Given the description of an element on the screen output the (x, y) to click on. 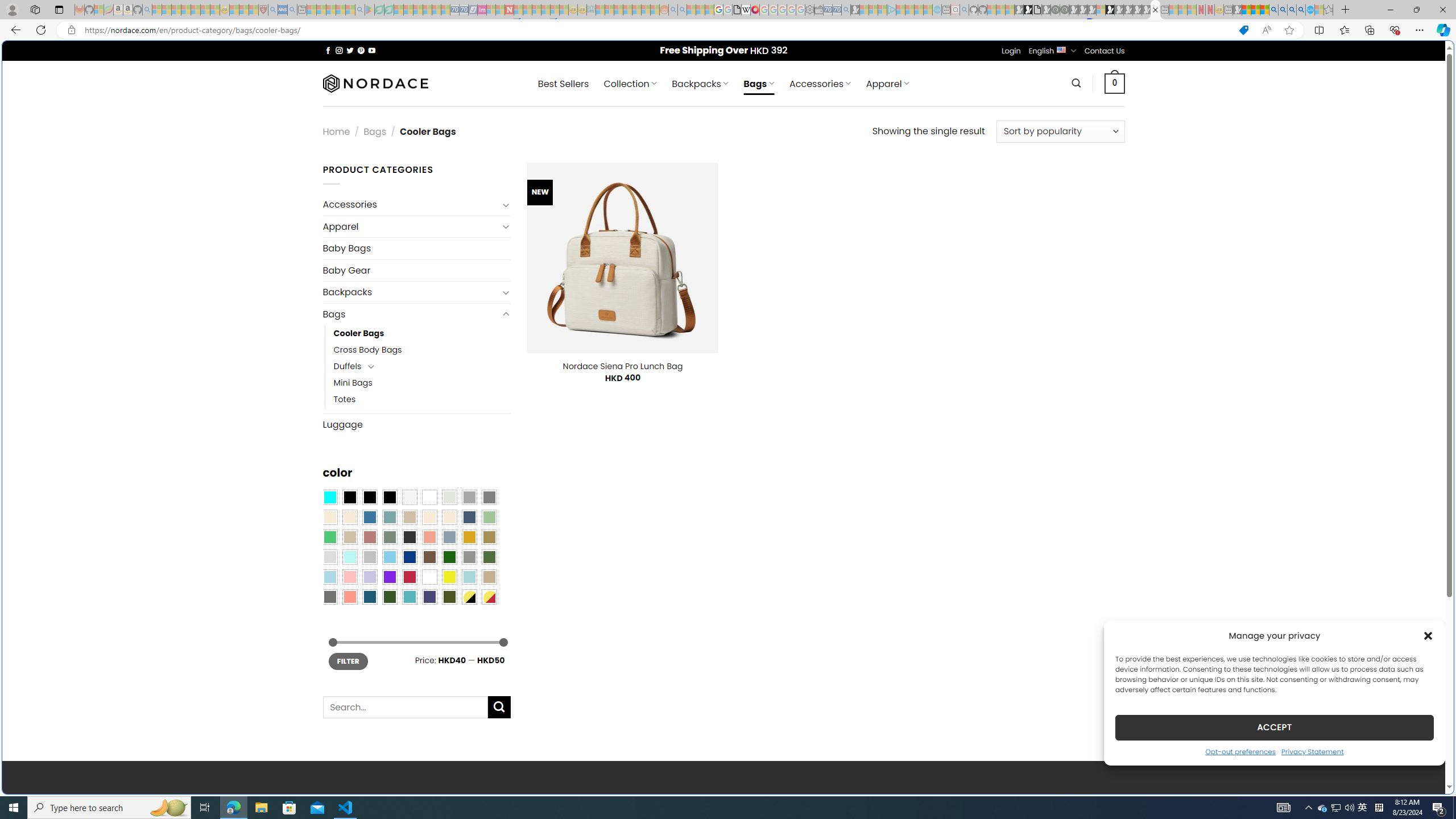
utah sues federal government - Search - Sleeping (291, 9)
Light Green (488, 517)
Navy Blue (408, 557)
Baby Bags (416, 248)
  0   (1115, 83)
Dark Green (449, 557)
Pink (349, 577)
2009 Bing officially replaced Live Search on June 3 - Search (1283, 9)
